Given the description of an element on the screen output the (x, y) to click on. 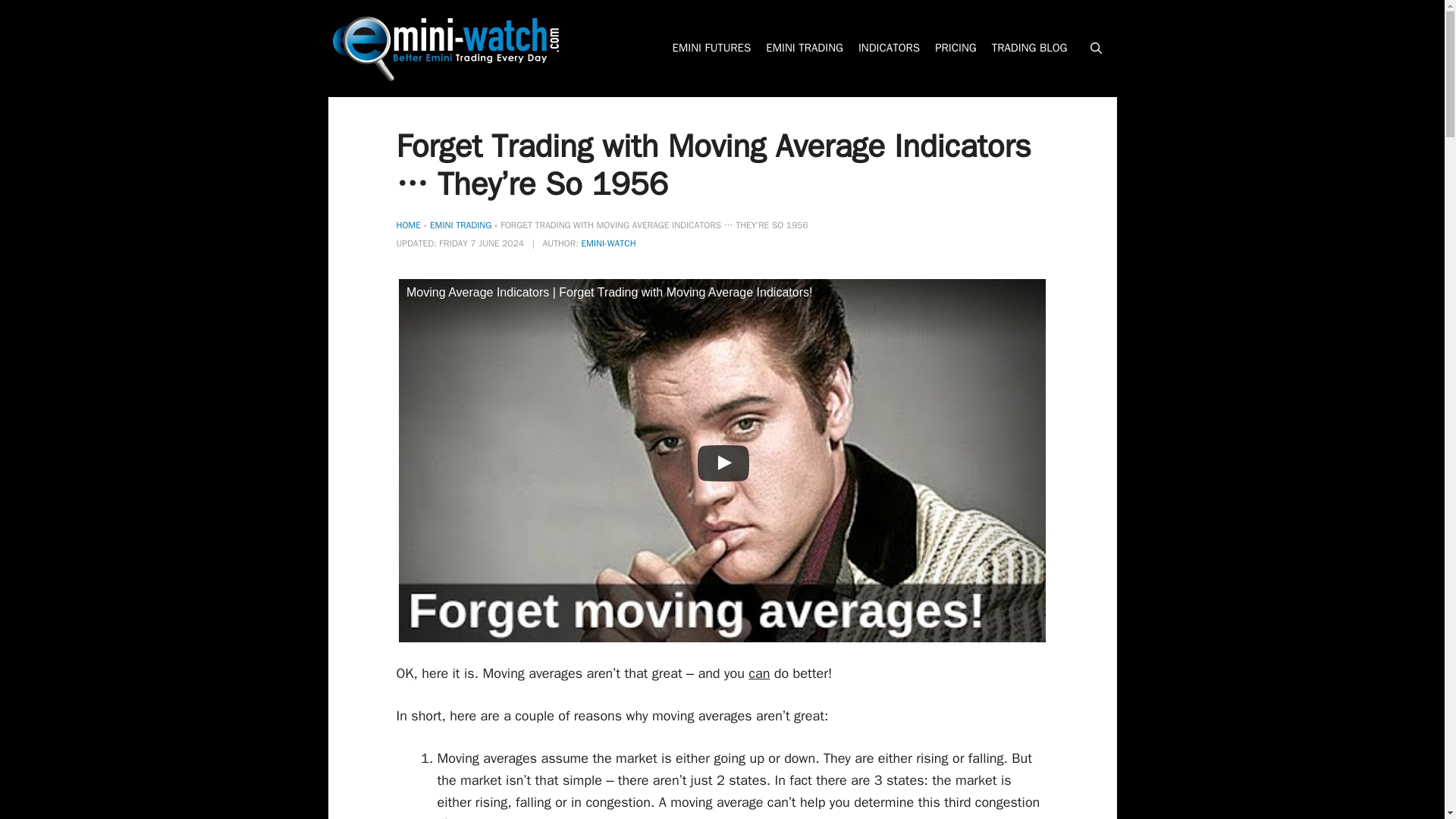
EMINI-WATCH (607, 243)
EMINI TRADING (804, 48)
EMINI FUTURES (711, 48)
INDICATORS (889, 48)
TRADING BLOG (1029, 48)
Emini-Watch.com (445, 46)
EMINI TRADING (460, 224)
HOME (408, 224)
